Given the description of an element on the screen output the (x, y) to click on. 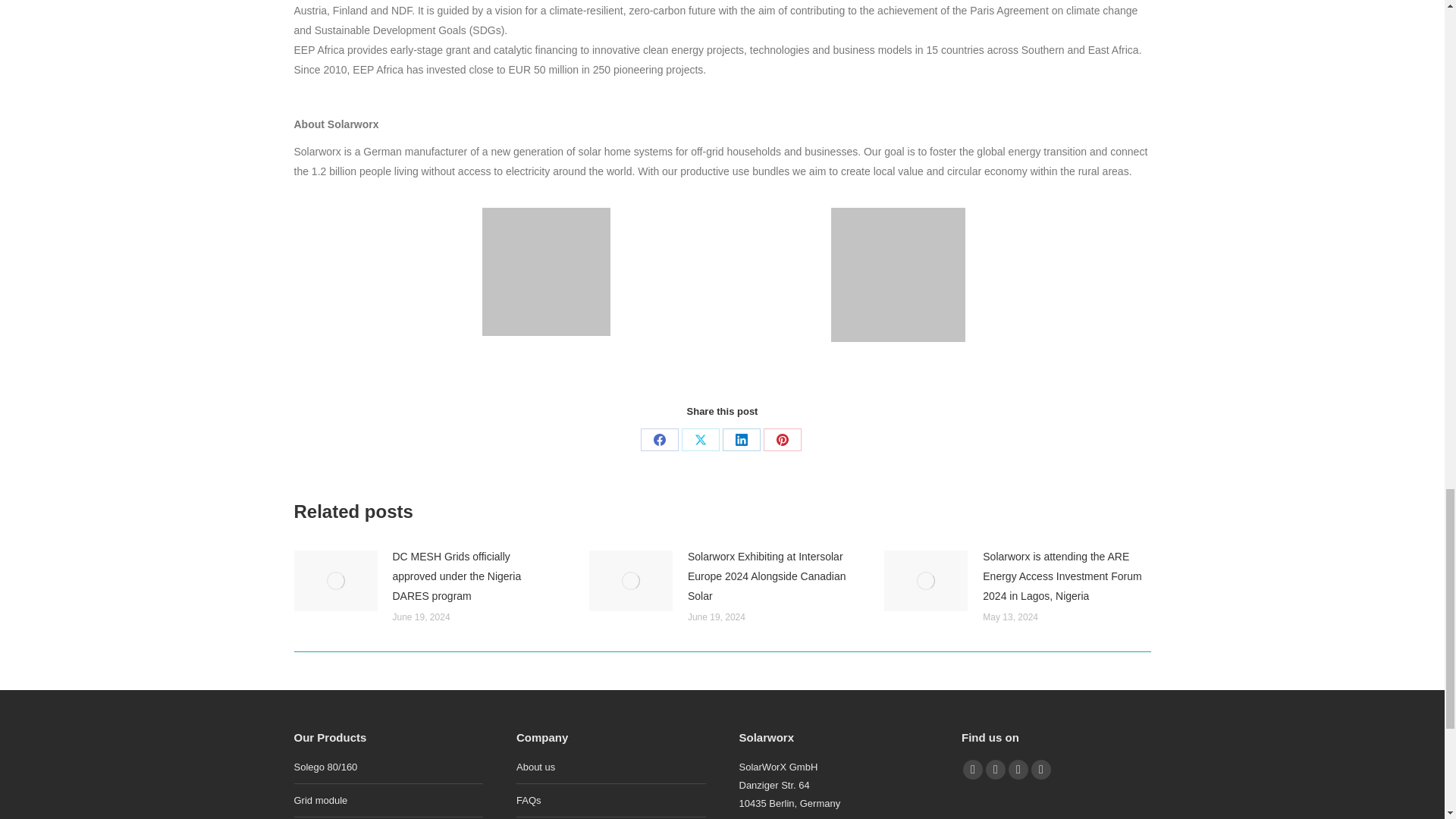
Facebook (659, 439)
Linkedin page opens in new window (1018, 769)
NDF-logo-177 (898, 275)
Pinterest (781, 439)
YouTube page opens in new window (995, 769)
X (700, 439)
LinkedIn (741, 439)
Instagram page opens in new window (1040, 769)
EEP-Logo-169x90 (545, 271)
X page opens in new window (972, 769)
